Given the description of an element on the screen output the (x, y) to click on. 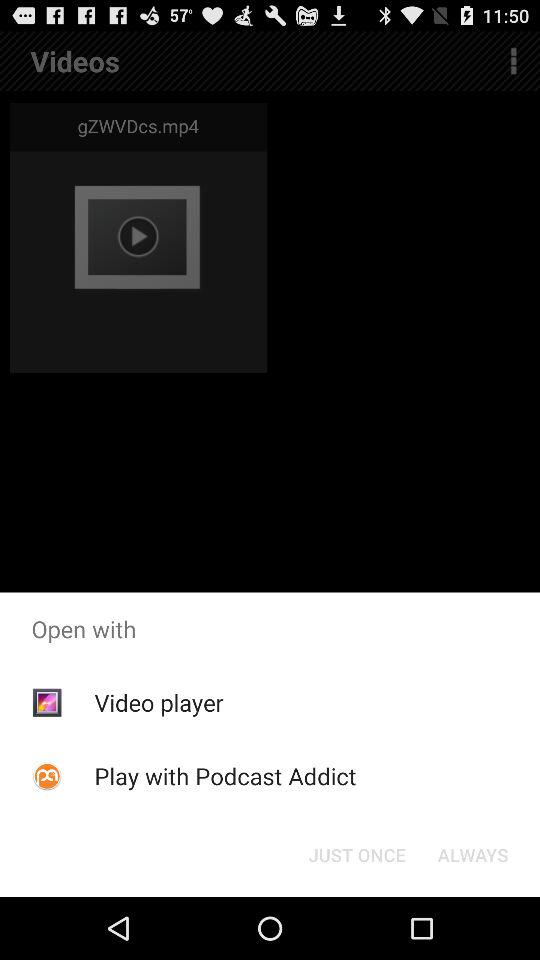
select the icon next to just once item (472, 854)
